Given the description of an element on the screen output the (x, y) to click on. 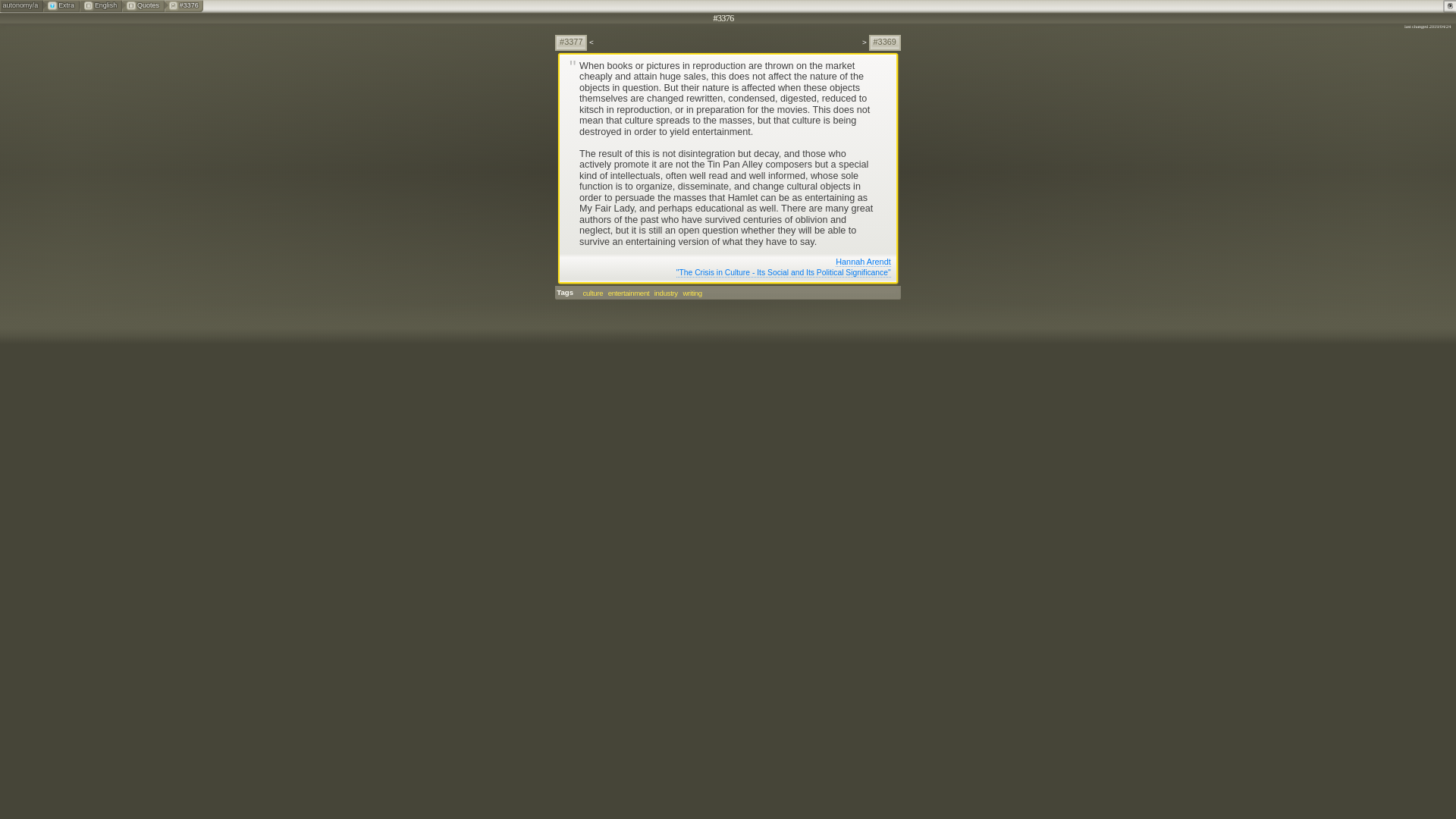
Hannah Arendt (862, 261)
Author (726, 261)
entertainment (628, 292)
Quotes (143, 6)
writing (692, 292)
Extra (61, 6)
culture (592, 292)
Source (726, 272)
industry (665, 292)
